Given the description of an element on the screen output the (x, y) to click on. 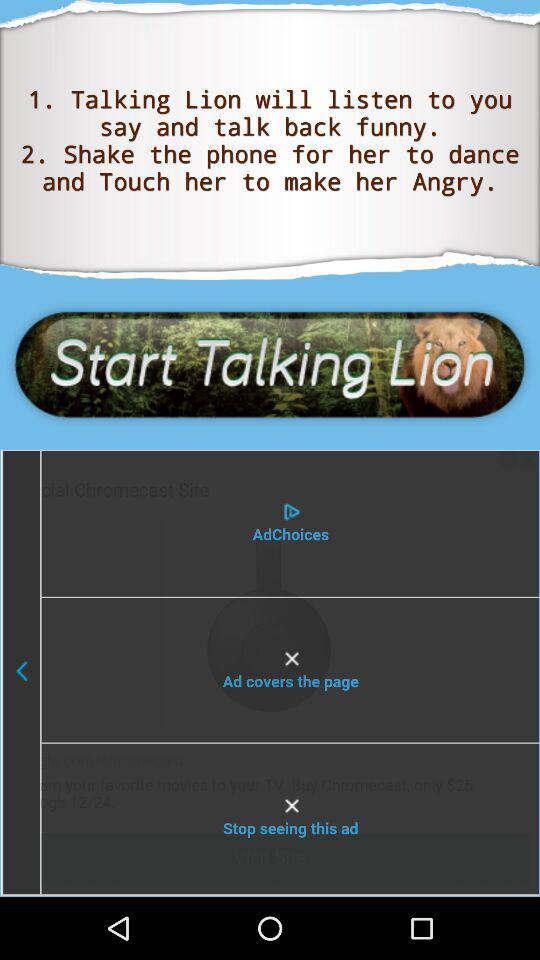
start app (270, 364)
